Given the description of an element on the screen output the (x, y) to click on. 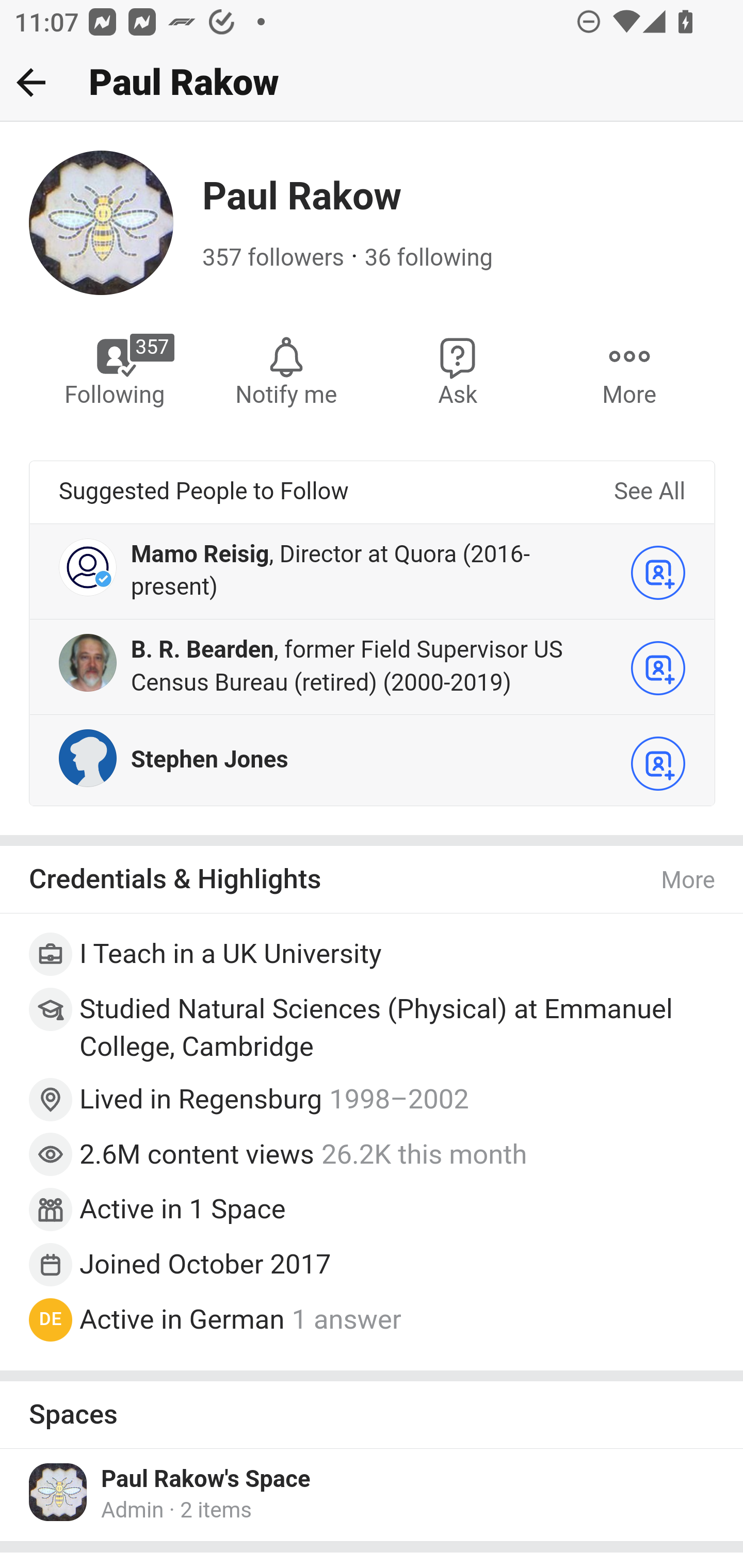
Back Paul Rakow (371, 82)
Back (30, 82)
357 followers (273, 257)
36 following (428, 257)
Following Paul Rakow 357 Following (115, 370)
Notify me (285, 370)
Ask (458, 370)
More (628, 370)
See All (649, 492)
Profile photo for Mamo Reisig (87, 565)
Mamo Reisig (200, 554)
Follow Mamo Reisig (658, 572)
Profile photo for B. R. Bearden (87, 661)
B. R. Bearden (202, 648)
Follow B. R. Bearden (658, 667)
Profile photo for Stephen Jones (87, 757)
Follow Stephen Jones (658, 763)
Stephen Jones (209, 759)
More (688, 880)
Active in German Active in  German (182, 1319)
Icon for Paul Rakow's Space (58, 1491)
Paul Rakow's Space (206, 1479)
